Given the description of an element on the screen output the (x, y) to click on. 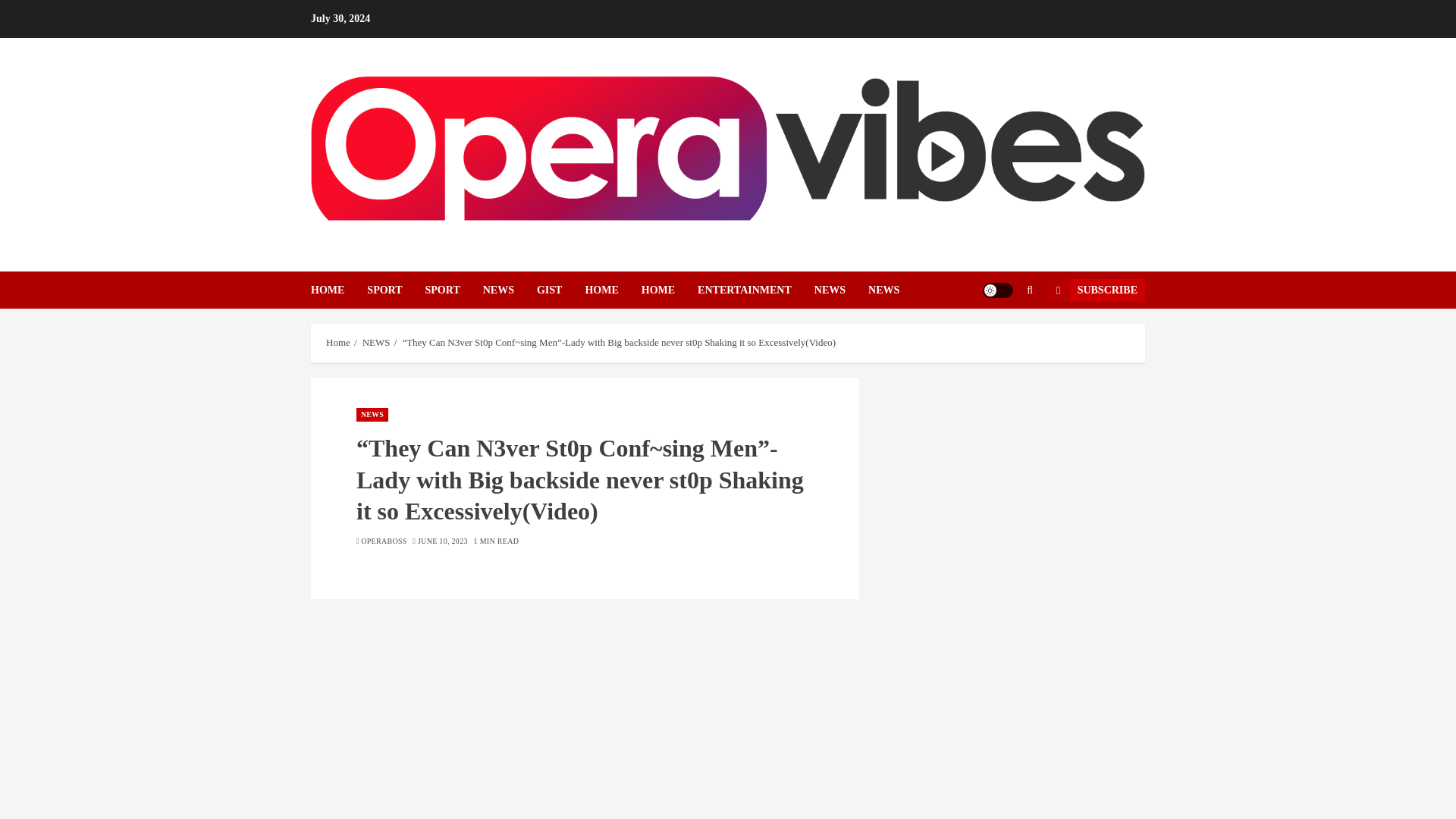
Home (338, 342)
HOME (612, 289)
HOME (669, 289)
NEWS (840, 289)
Search (999, 335)
SUBSCRIBE (1095, 290)
OPERABOSS (384, 541)
NEWS (372, 414)
NEWS (376, 342)
SPORT (454, 289)
SPORT (395, 289)
ENTERTAINMENT (755, 289)
NEWS (510, 289)
GIST (561, 289)
JUNE 10, 2023 (442, 541)
